Given the description of an element on the screen output the (x, y) to click on. 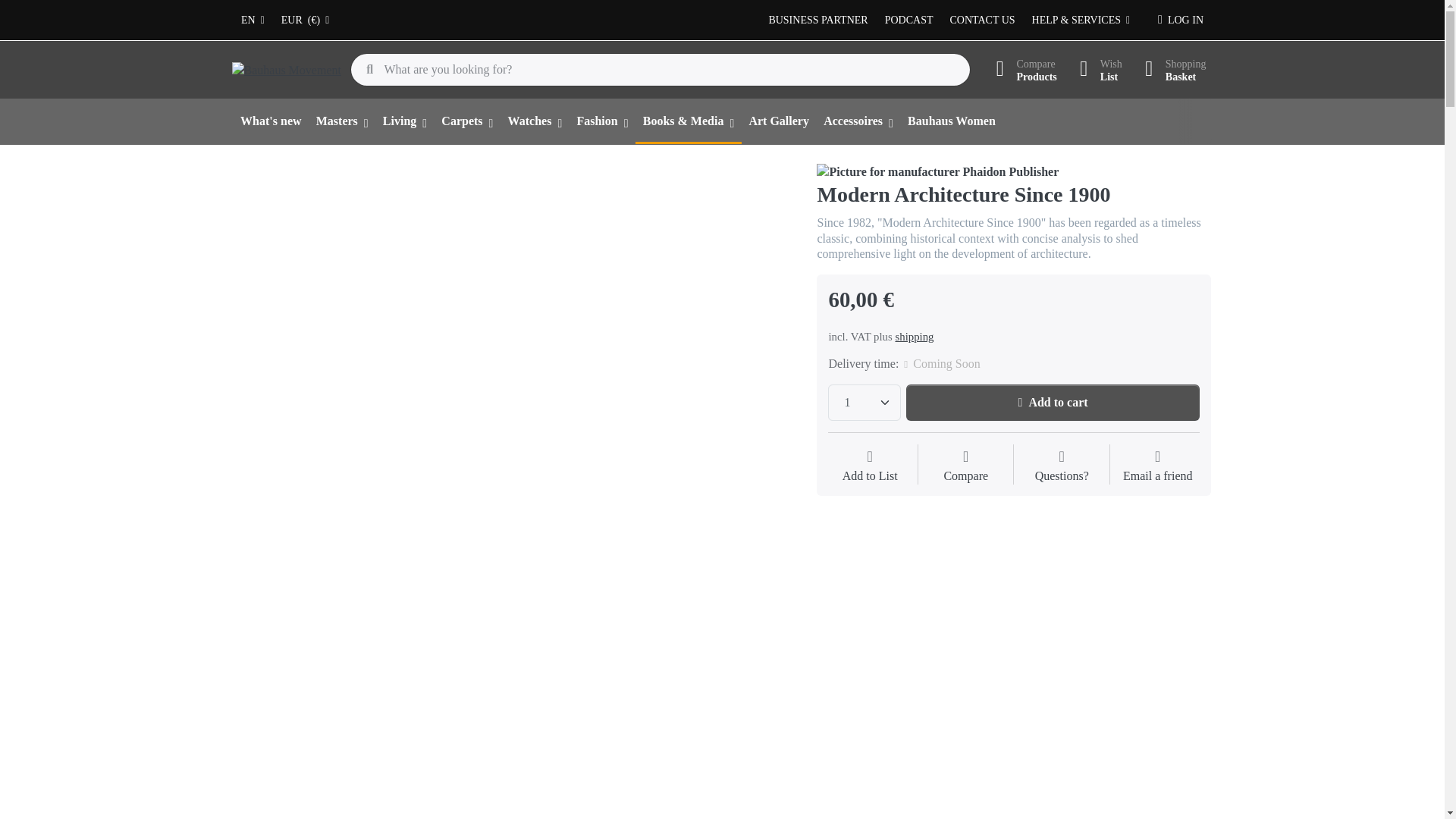
PODCAST (908, 20)
EN (252, 20)
CONTACT US (982, 20)
BUSINESS PARTNER (818, 20)
